Given the description of an element on the screen output the (x, y) to click on. 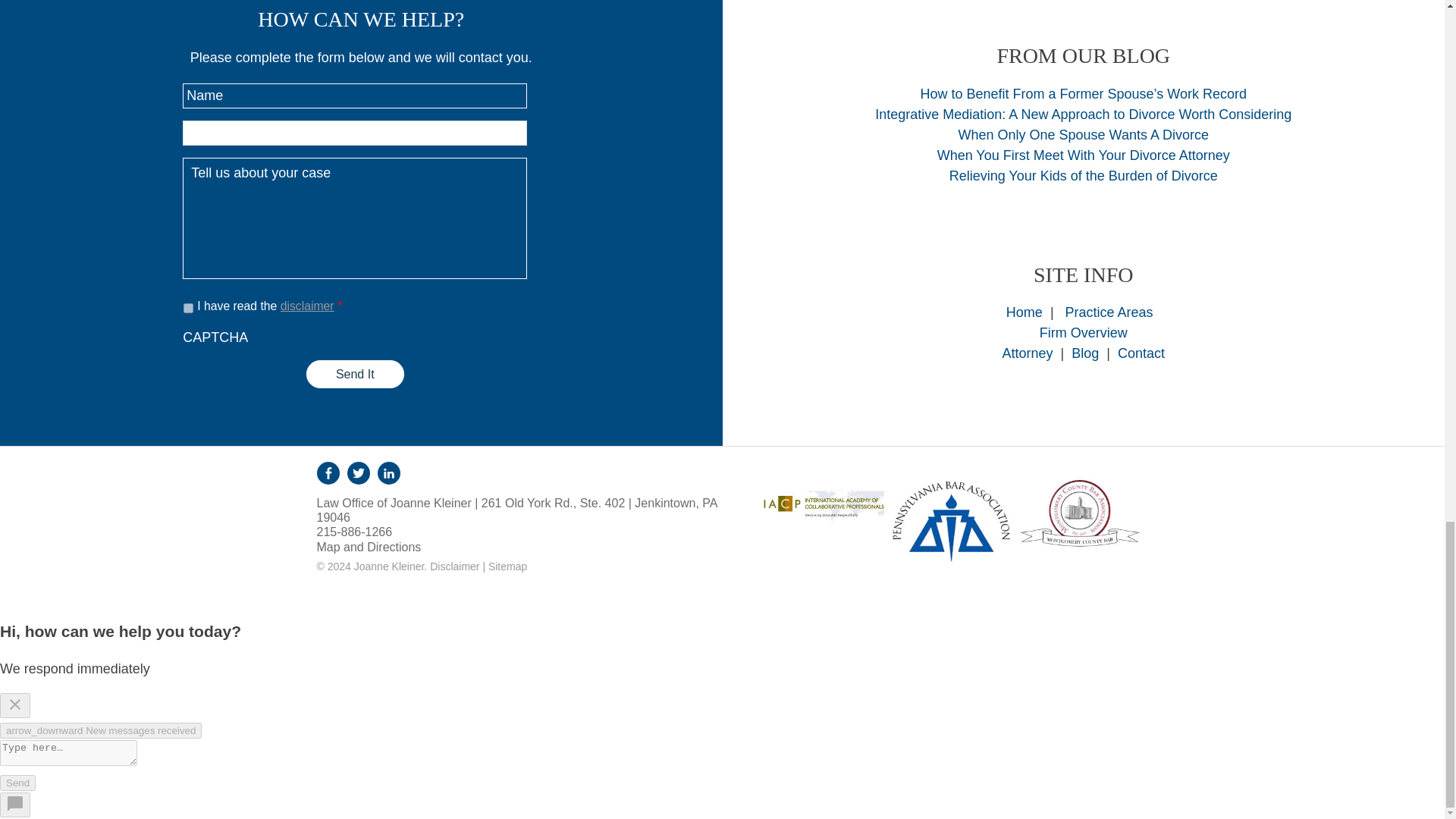
When You First Meet With Your Divorce Attorney (1083, 155)
Linkedin (388, 472)
Twitter (358, 472)
disclaimer (307, 305)
Send It (354, 374)
Blog (1085, 353)
Send It (354, 374)
Practice Areas (1109, 312)
Contact (1141, 353)
Firm Overview (1082, 332)
